Given the description of an element on the screen output the (x, y) to click on. 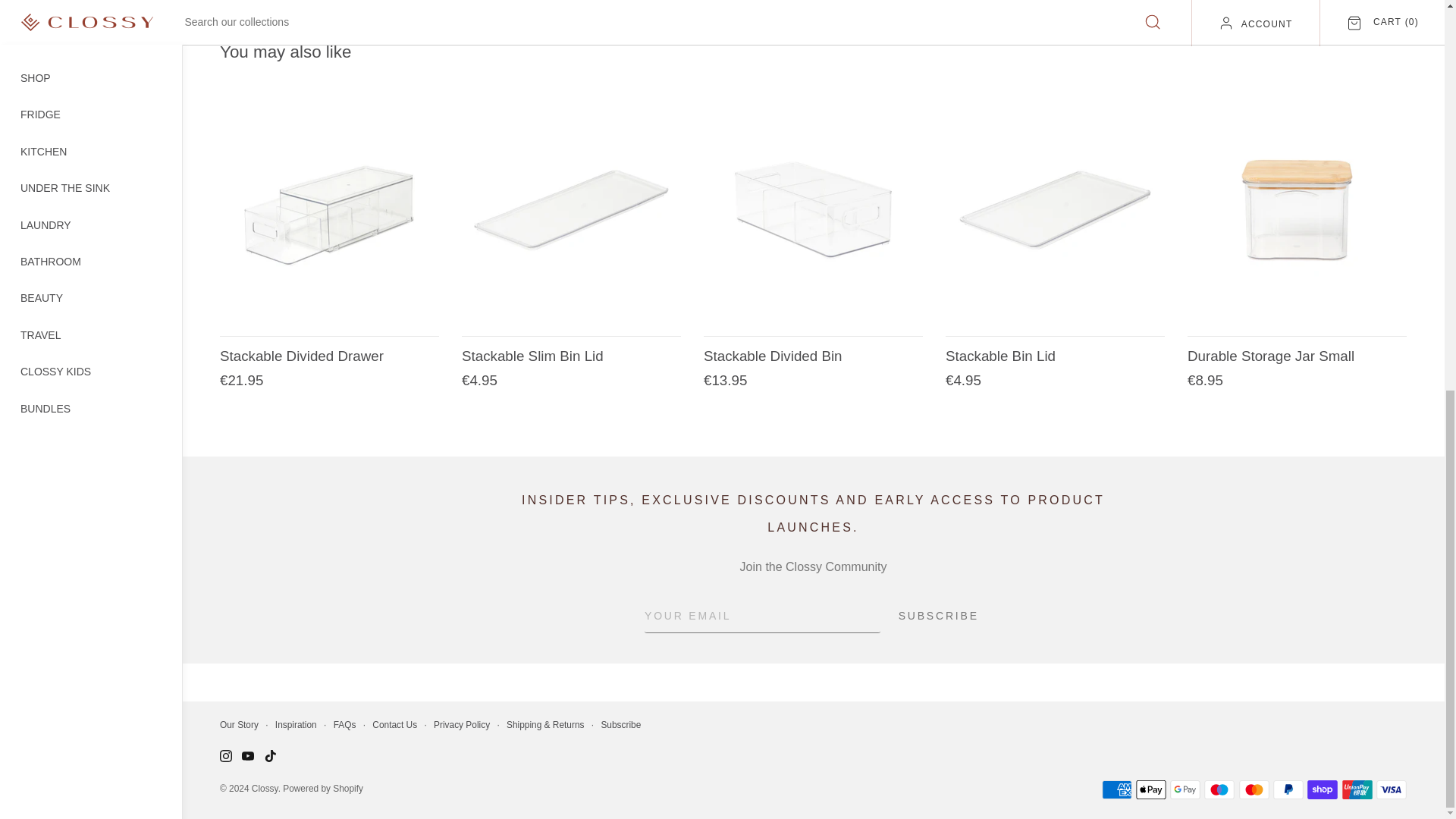
Stackable Bin Lid (1054, 210)
Stackable Divided Bin (813, 210)
Youtube (247, 756)
Apple Pay (1150, 789)
Durable Storage Jar Small (1297, 210)
Stackable Divided Drawer (329, 210)
Instagram (225, 756)
Google Pay (1184, 789)
PayPal (1287, 789)
Stackable Slim Bin Lid (571, 210)
American Express (1115, 789)
Shop Pay (1322, 789)
Maestro (1219, 789)
Mastercard (1254, 789)
Visa (1390, 789)
